Given the description of an element on the screen output the (x, y) to click on. 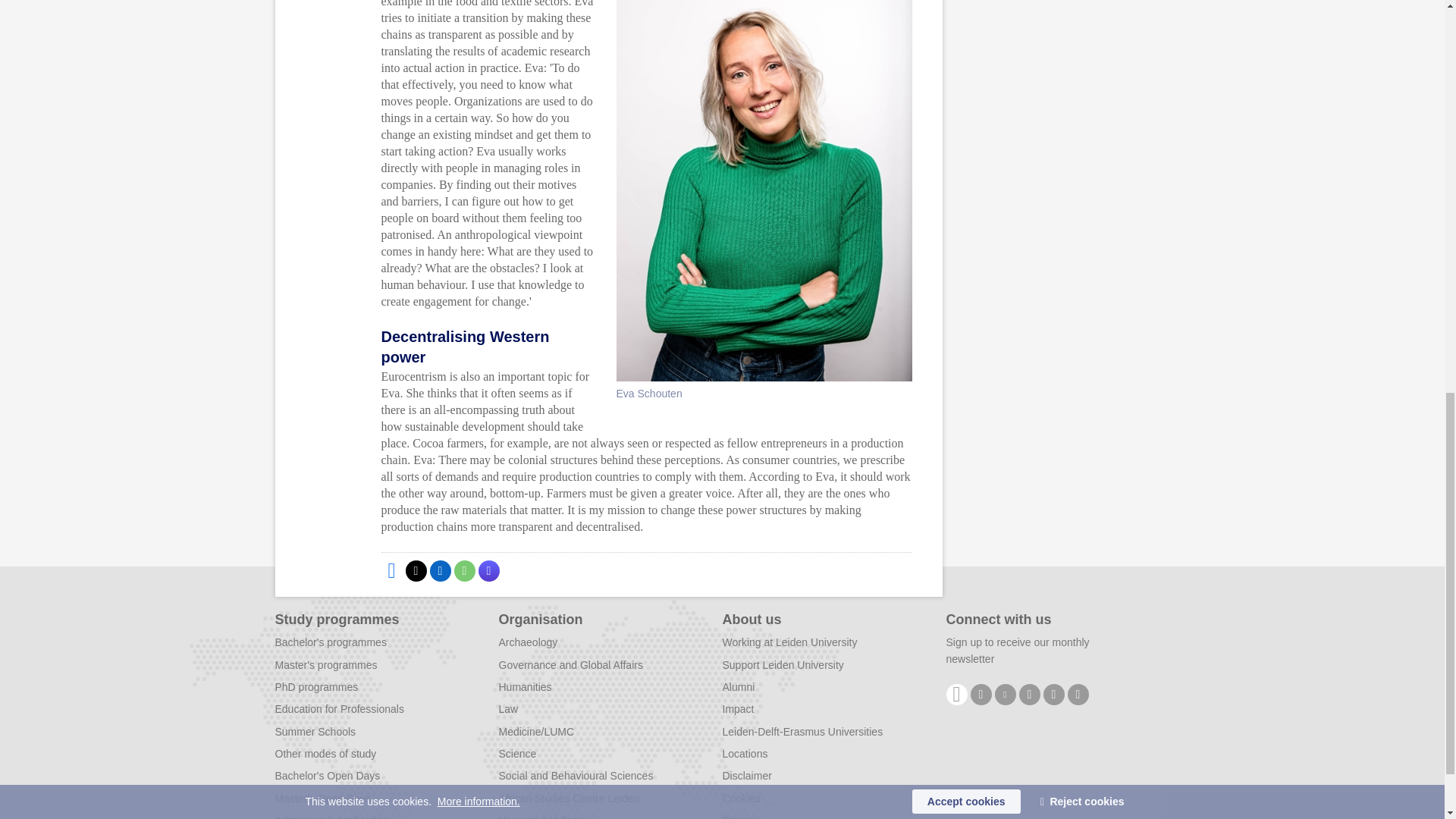
Share by WhatsApp (463, 570)
Share on X (415, 570)
Share on LinkedIn (439, 570)
Share by Mastodon (488, 570)
Share on Facebook (390, 570)
